Given the description of an element on the screen output the (x, y) to click on. 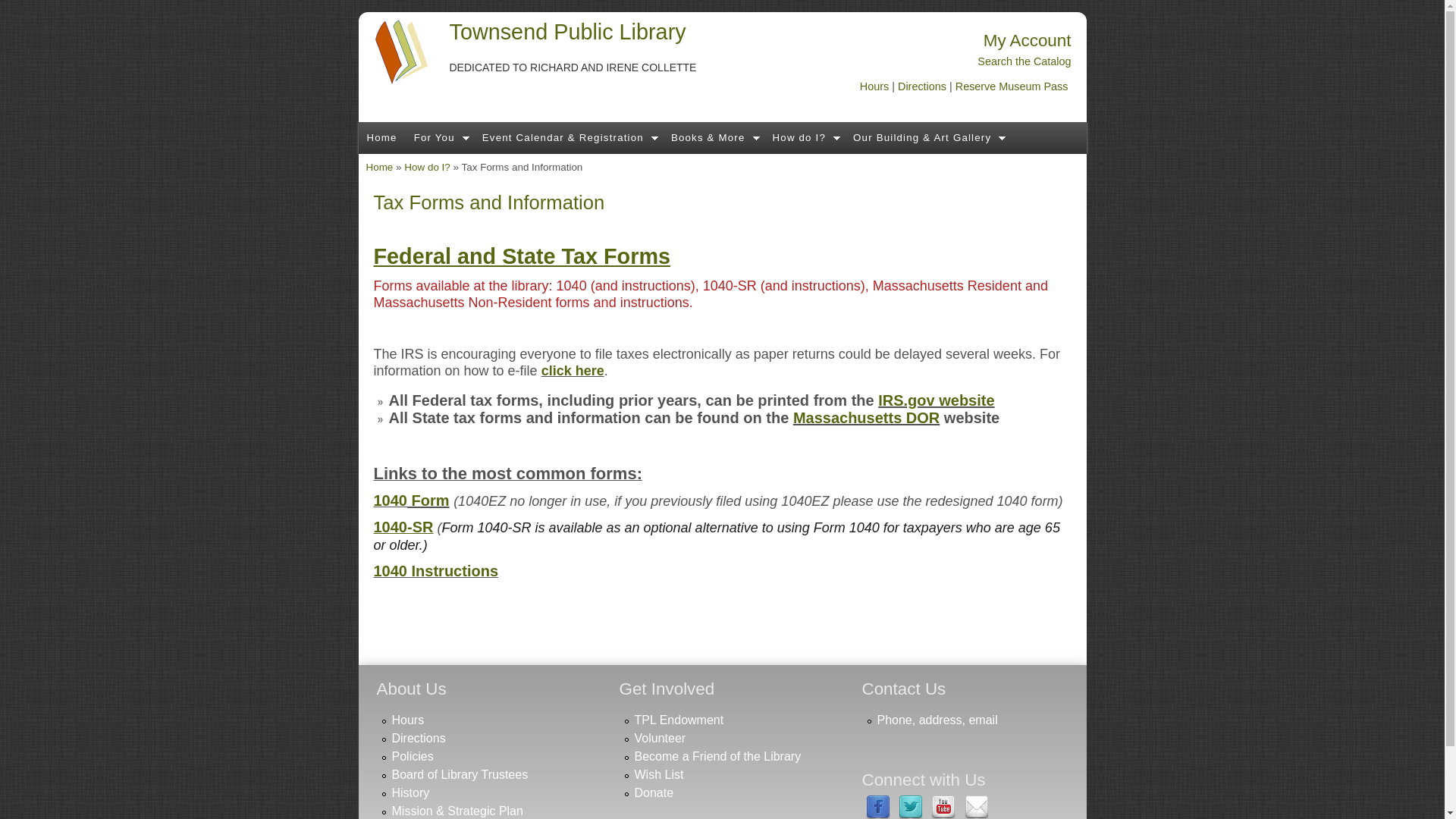
See what we have for all ages (440, 137)
Townsend Public Library (566, 31)
Return to home page (381, 137)
Home (381, 137)
Discover what's happening at the library for all ages. (568, 137)
Search the Catalog (1023, 61)
Home (566, 31)
My Account (1027, 40)
Directions (922, 86)
